Given the description of an element on the screen output the (x, y) to click on. 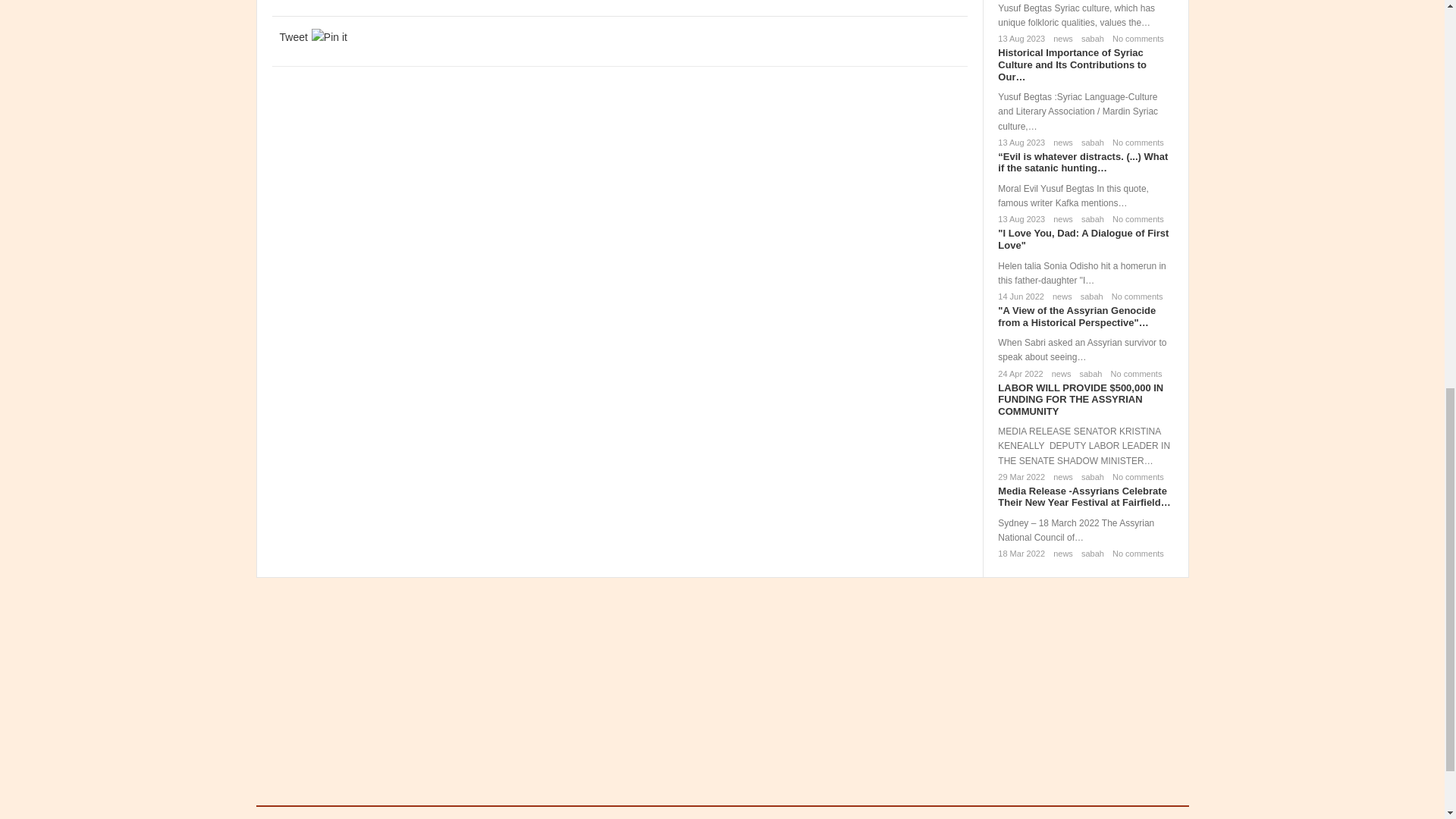
Tweet (293, 36)
Pin it (329, 36)
